Given the description of an element on the screen output the (x, y) to click on. 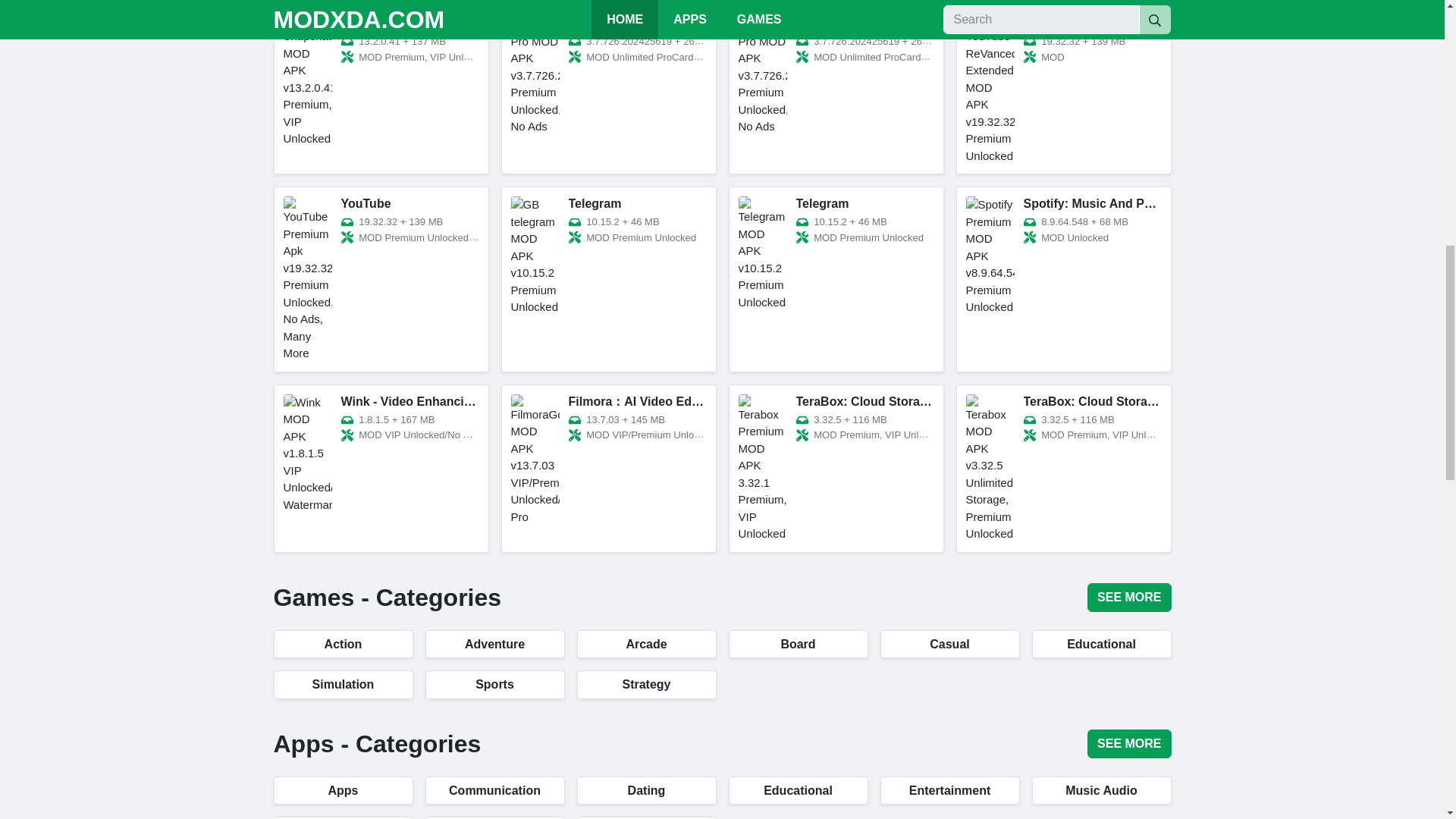
GB telegram MOD APK v10.15.2 Premium Unlocked (608, 279)
SEE MORE (1128, 597)
Arcade (646, 643)
Telegram MOD APK v10.15.2 Premium Unlocked (835, 279)
Action (342, 643)
YouTube ReVanced Extended MOD APK v19.32.32 Premium Unlocked (1062, 89)
Snapchat MOD APK v13.2.0.41 Premium, VIP Unlocked (380, 89)
